Given the description of an element on the screen output the (x, y) to click on. 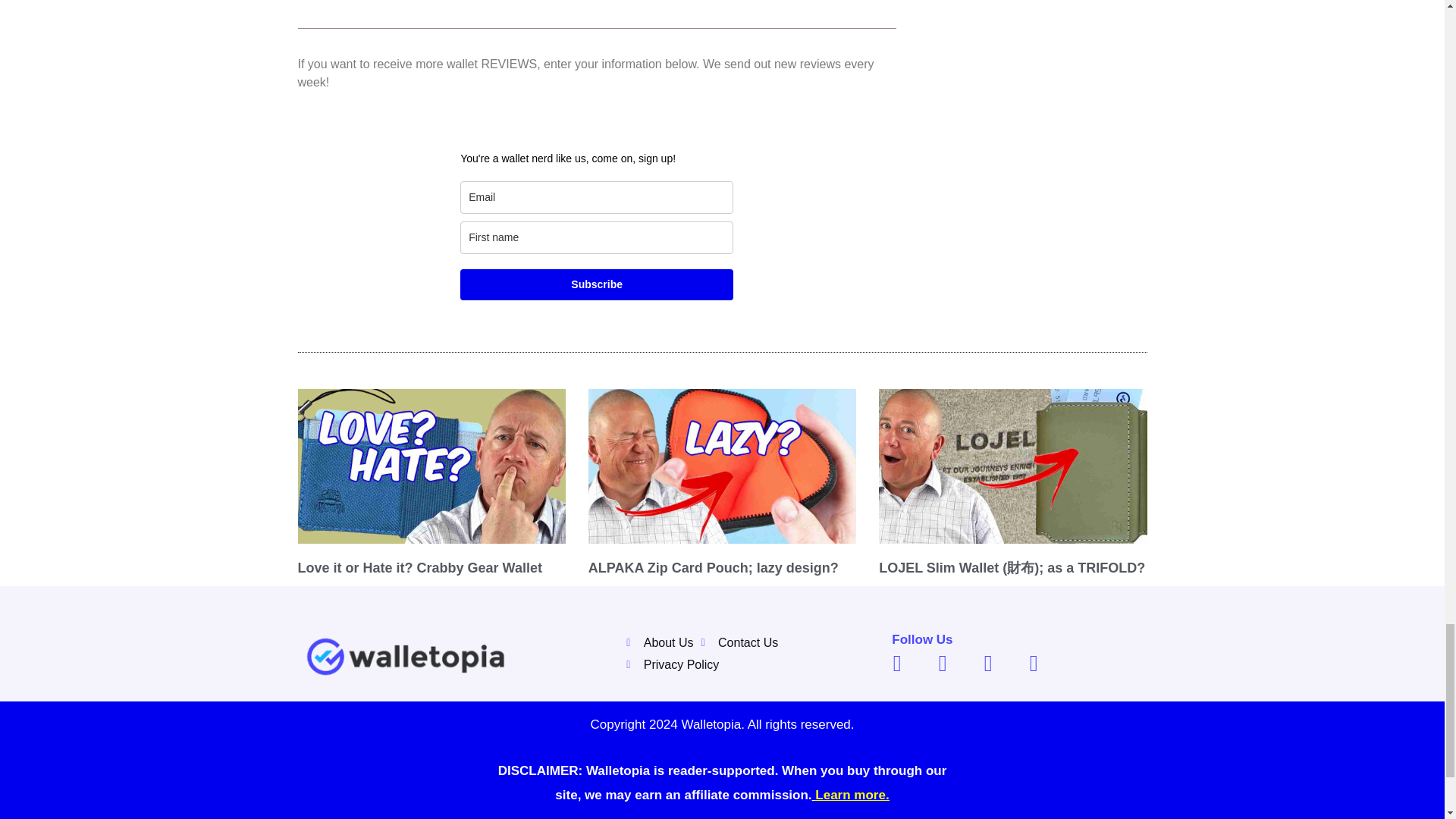
Subscribe (596, 284)
